Given the description of an element on the screen output the (x, y) to click on. 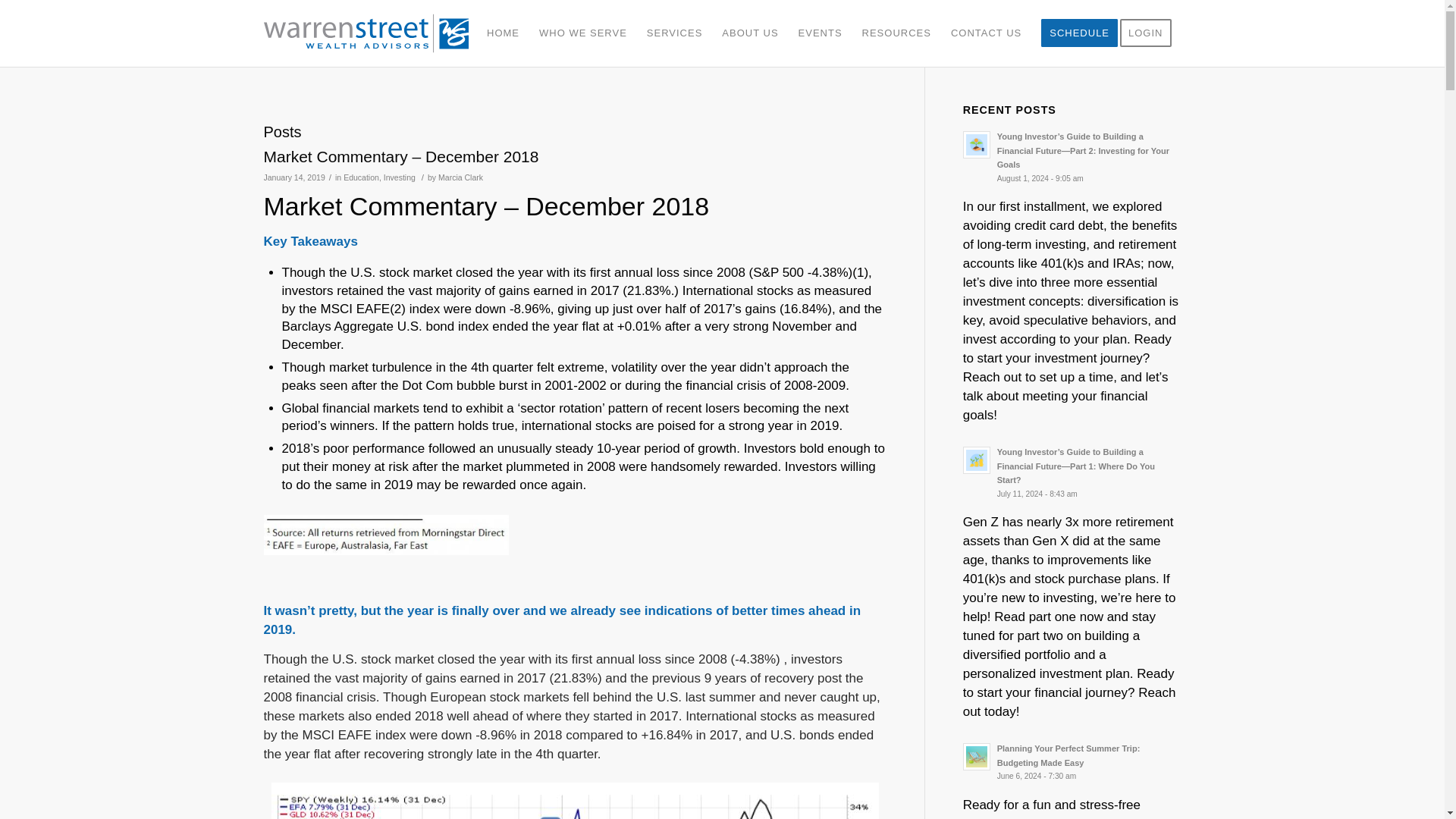
EVENTS (820, 33)
LOGIN (1149, 33)
SCHEDULE (1078, 33)
SERVICES (675, 33)
WHO WE SERVE (583, 33)
Investing (399, 176)
CONTACT US (985, 33)
RESOURCES (895, 33)
Posts by Marcia Clark (460, 176)
Education (360, 176)
Planning Your Perfect Summer Trip: Budgeting Made Easy (1071, 761)
color (371, 33)
ABOUT US (749, 33)
Marcia Clark (460, 176)
